Given the description of an element on the screen output the (x, y) to click on. 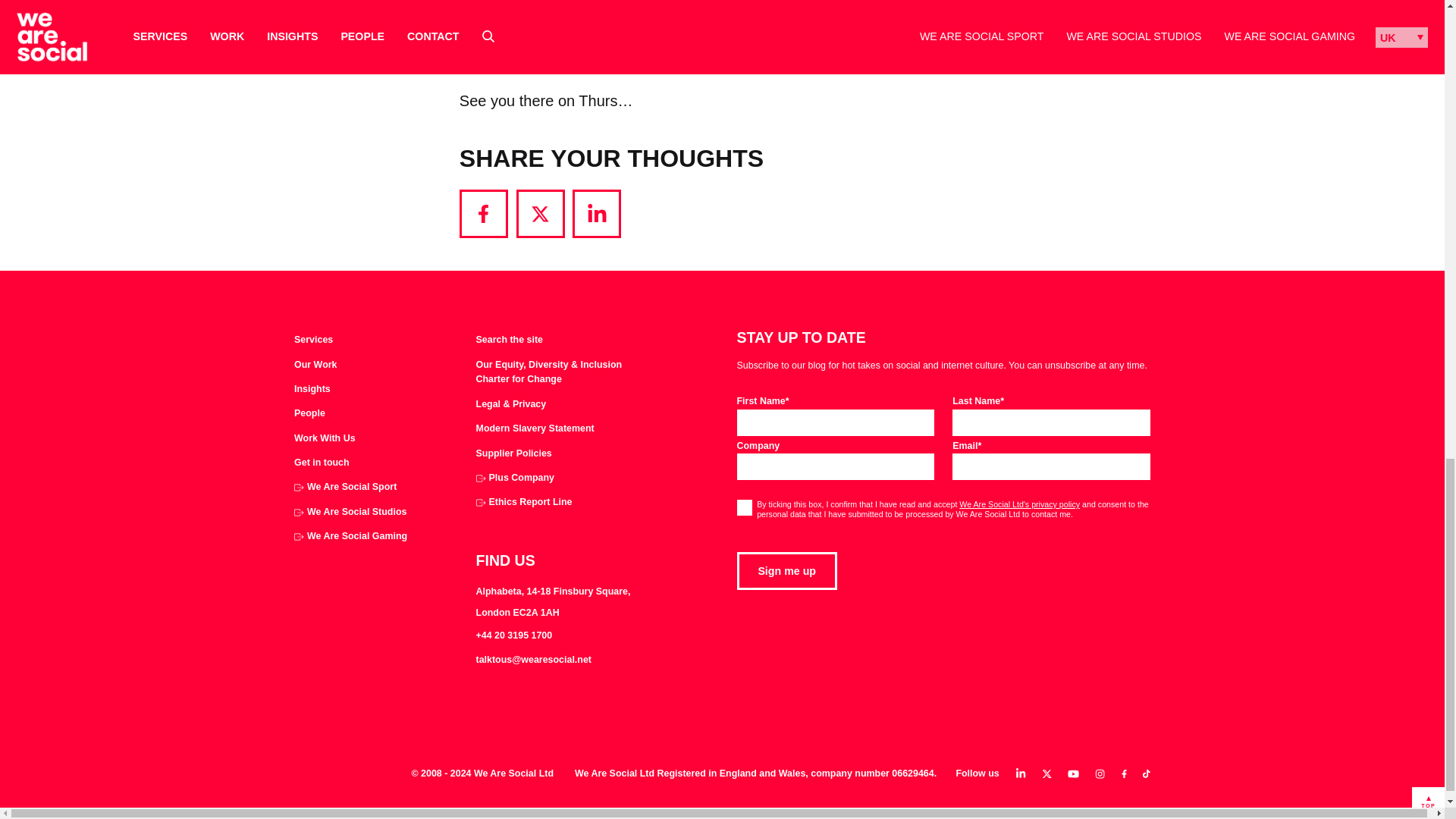
Insights (312, 389)
Modern Slavery Statement (535, 428)
Insights (312, 389)
We Are Social Sport (345, 487)
Share via Facebook (484, 213)
We Are Social Studios (350, 512)
Share via Facebook (484, 213)
Share via LinkedIn (596, 213)
get your tickets now (716, 52)
Services (313, 340)
